Given the description of an element on the screen output the (x, y) to click on. 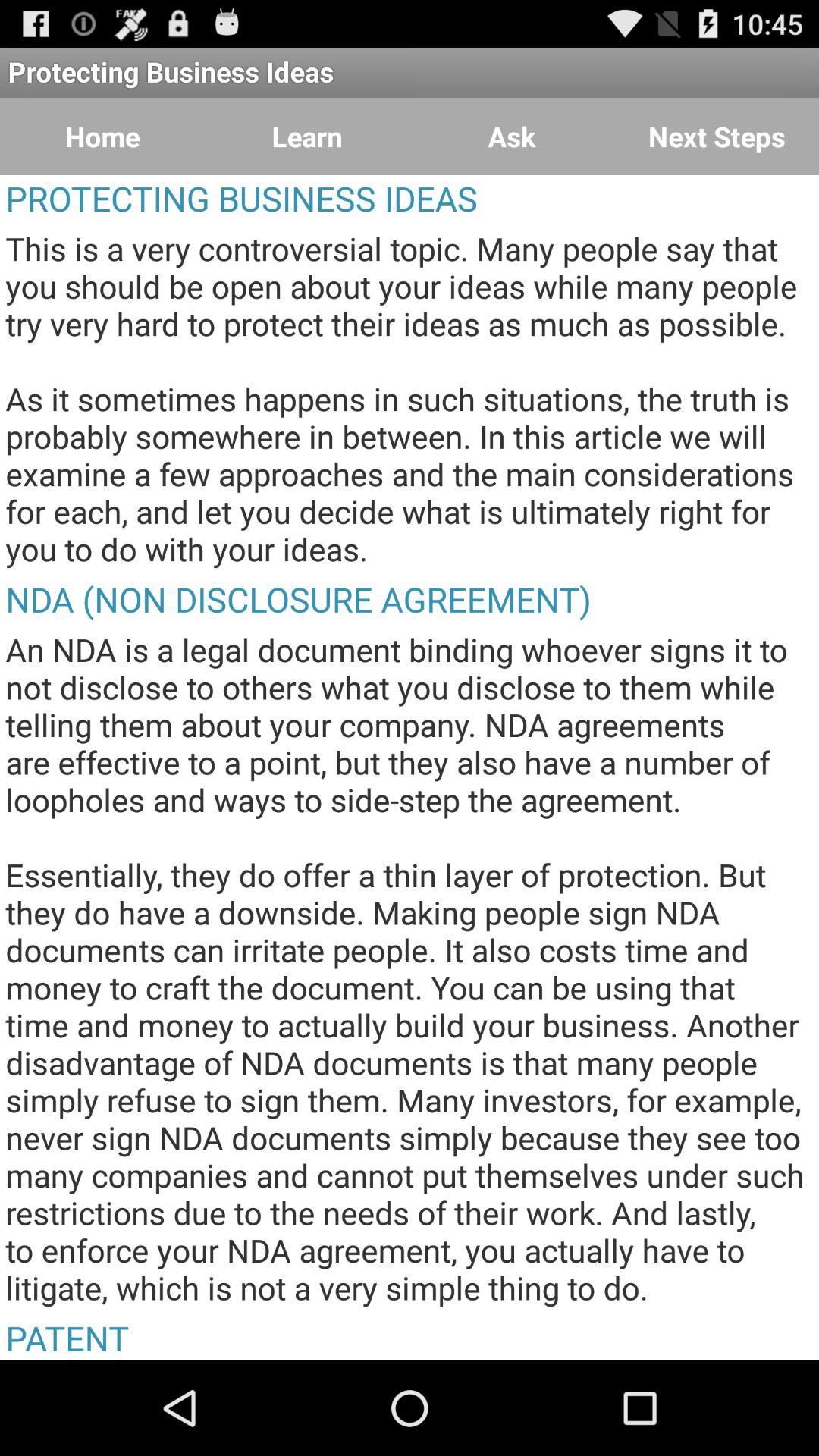
click the item below the protecting business ideas app (102, 136)
